Given the description of an element on the screen output the (x, y) to click on. 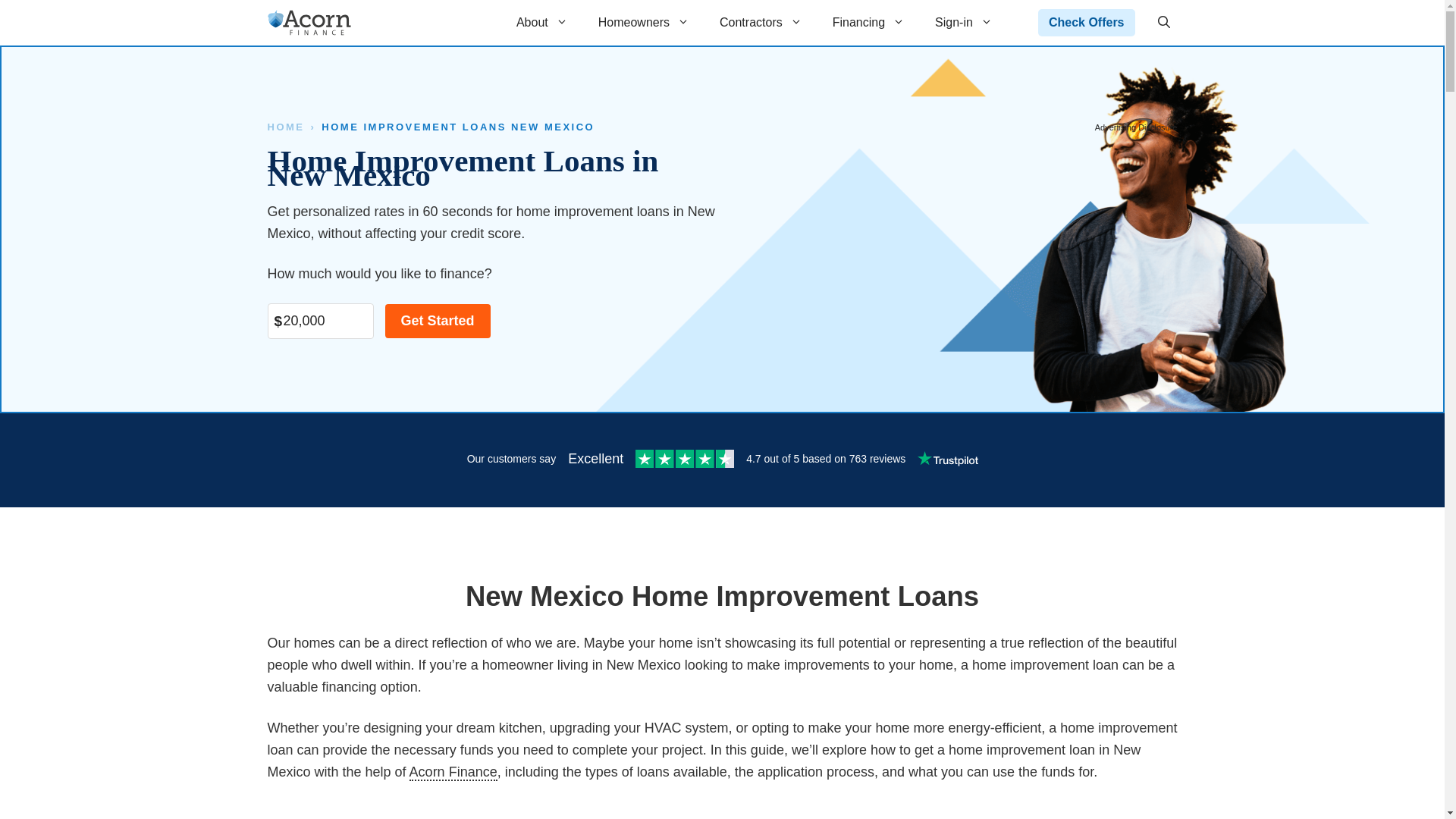
20,000 (319, 321)
About (541, 22)
Customer reviews powered by Trustpilot (721, 459)
Homeowners (643, 22)
Get Started (437, 320)
